Given the description of an element on the screen output the (x, y) to click on. 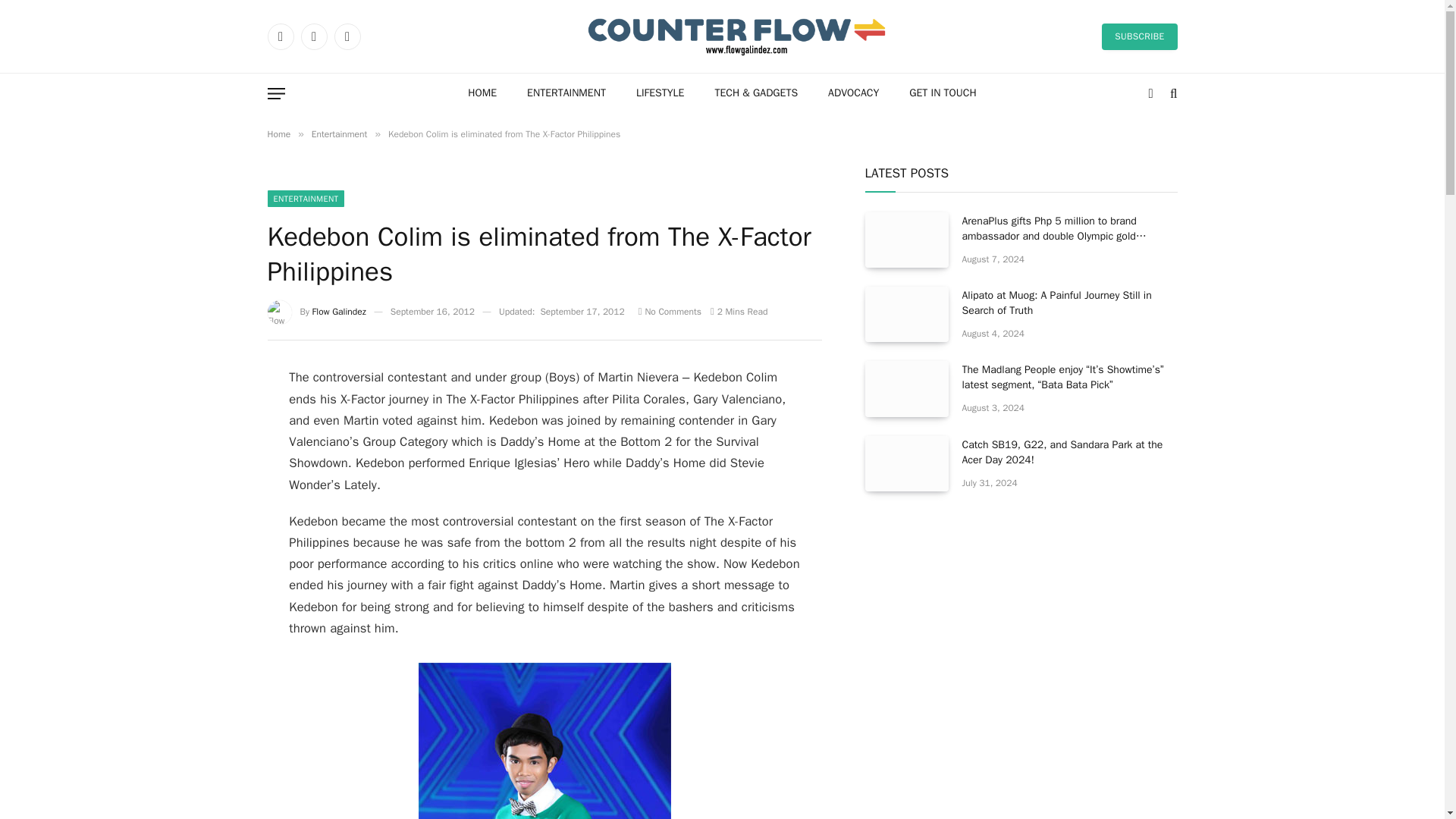
No Comments (670, 311)
SUBSCRIBE (1139, 35)
Flow Galindez (339, 311)
ADVOCACY (852, 93)
ENTERTAINMENT (304, 198)
LIFESTYLE (660, 93)
Entertainment (339, 133)
ENTERTAINMENT (566, 93)
Instagram (346, 35)
Posts by Flow Galindez (339, 311)
GET IN TOUCH (942, 93)
Twitter (312, 35)
HOME (482, 93)
Facebook (280, 35)
Home (277, 133)
